Given the description of an element on the screen output the (x, y) to click on. 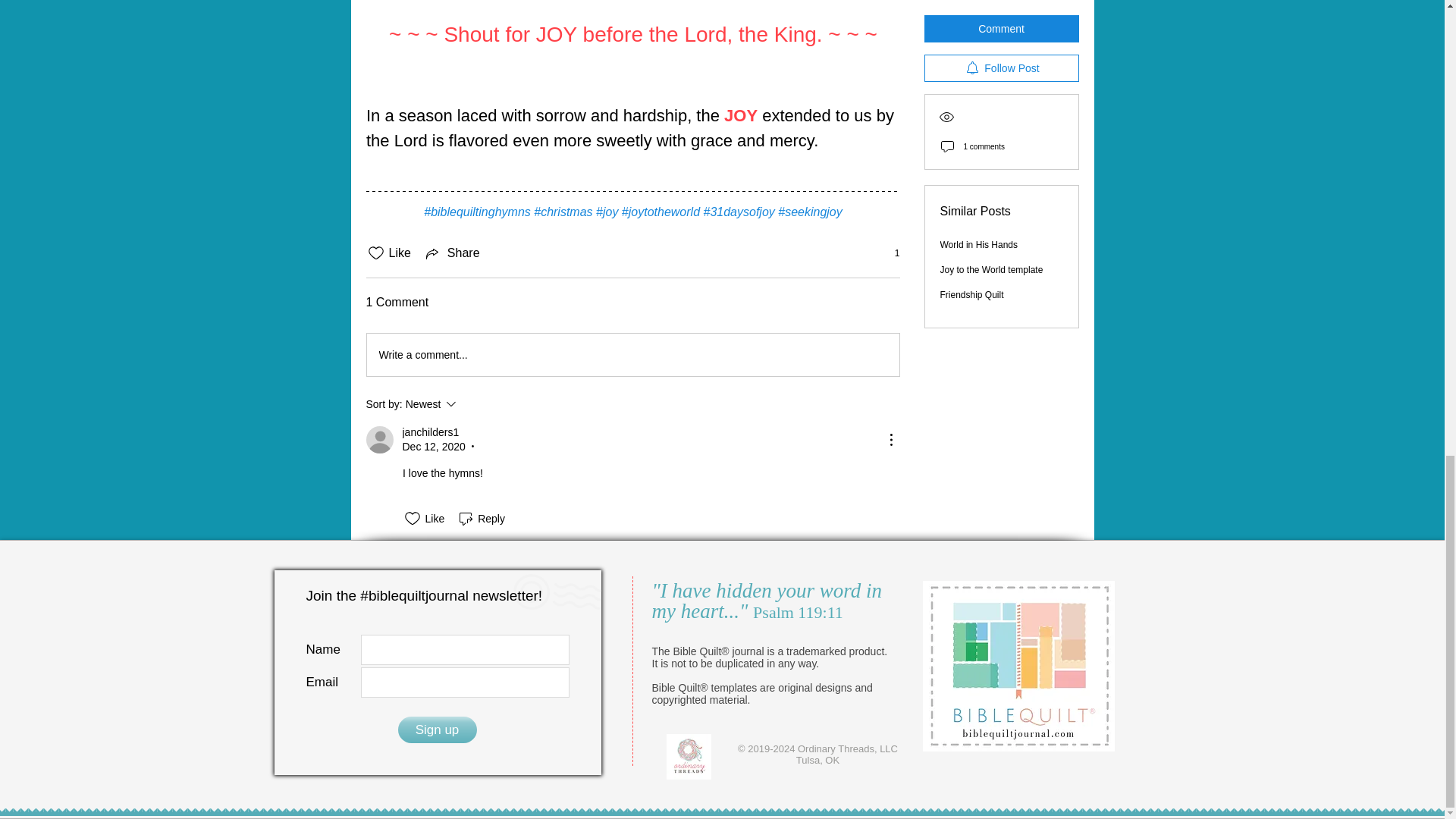
Reply (481, 518)
Write a comment... (632, 354)
1 (888, 253)
janchilders1 (429, 432)
Share (471, 403)
